Given the description of an element on the screen output the (x, y) to click on. 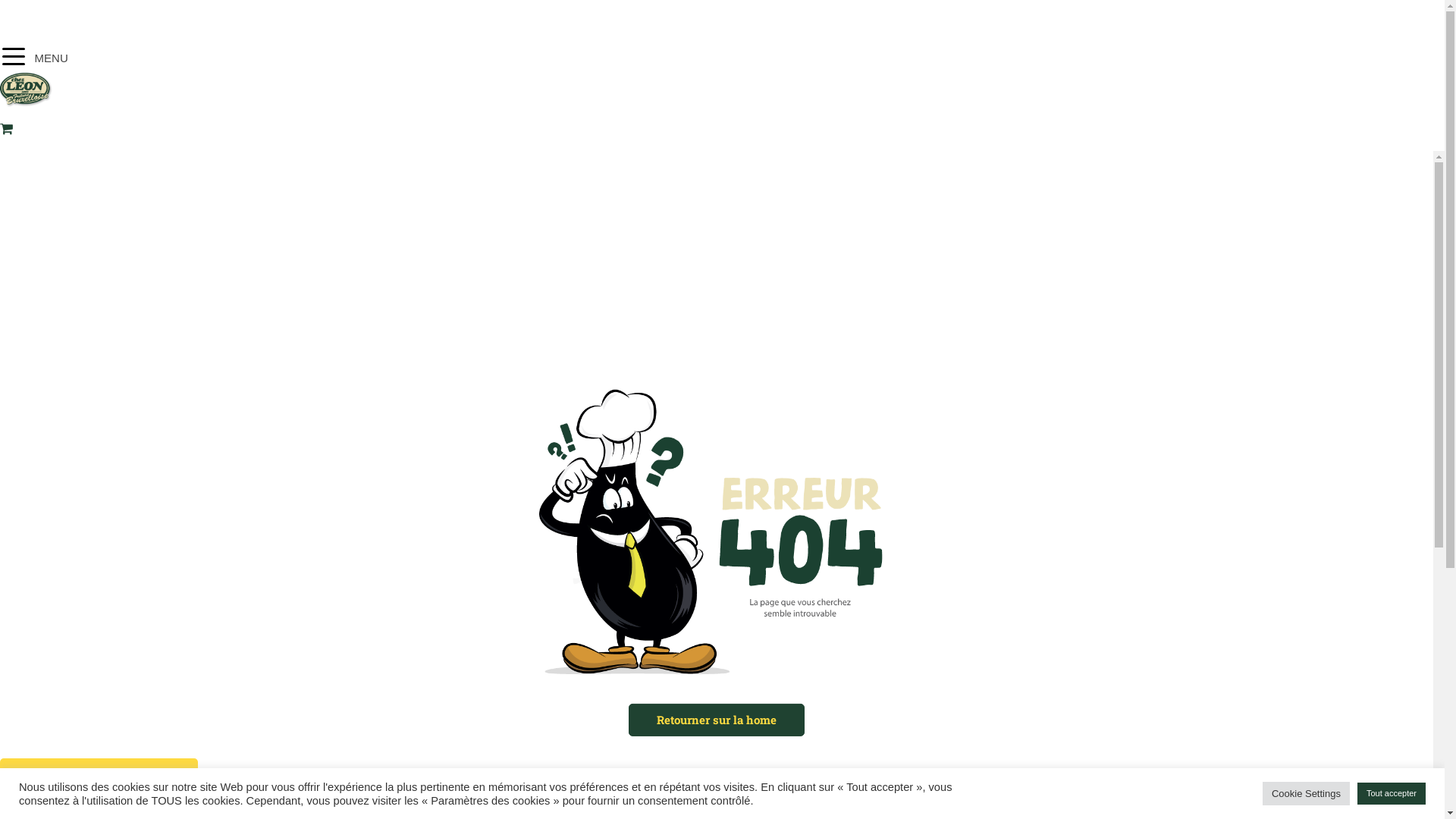
MENU Element type: text (34, 54)
Retourner sur la home Element type: text (716, 719)
Cookie Settings Element type: text (1305, 793)
Tout accepter Element type: text (1391, 793)
